Given the description of an element on the screen output the (x, y) to click on. 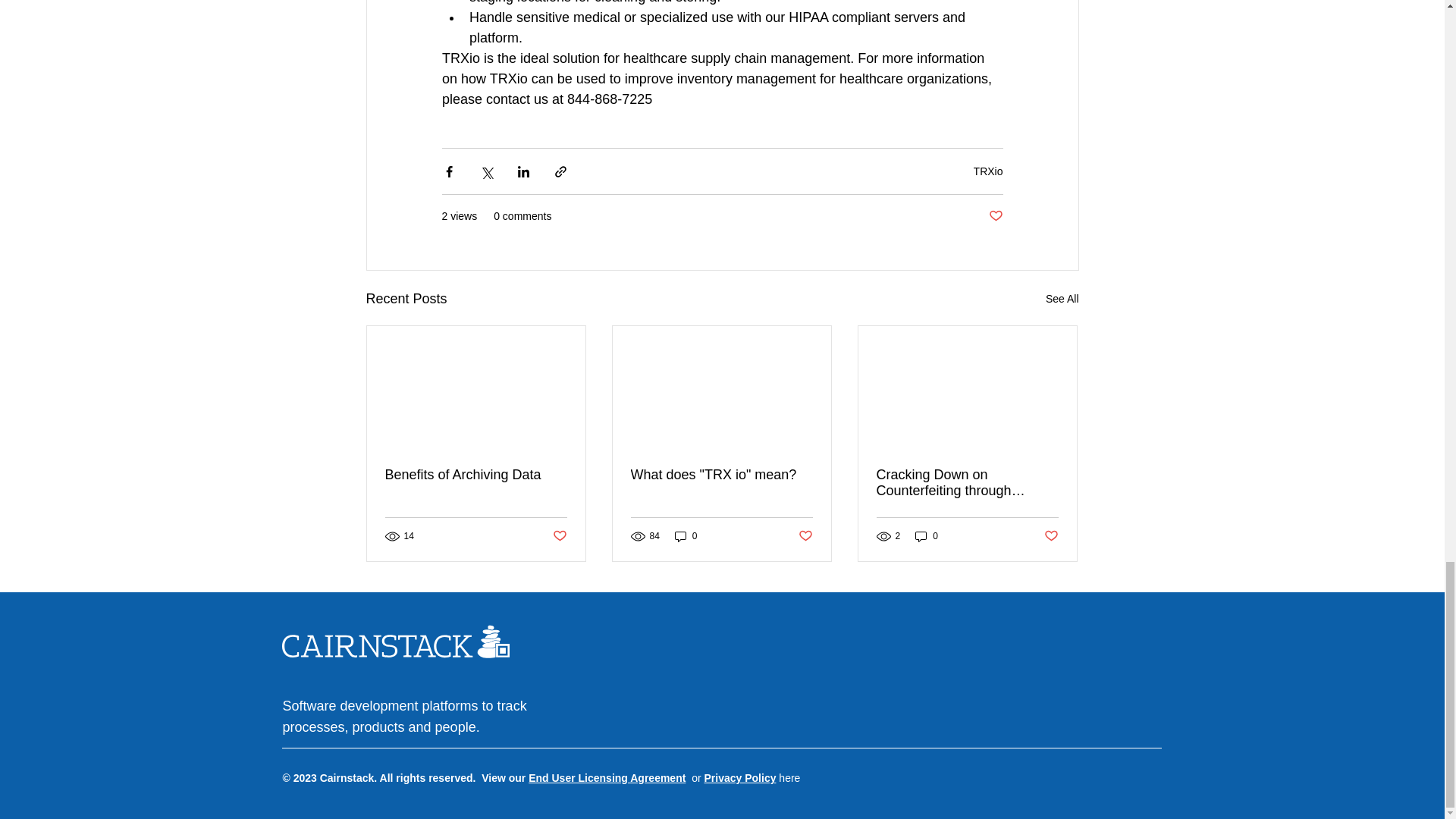
What does "TRX io" mean? (721, 474)
Post not marked as liked (995, 216)
0 (685, 536)
TRXio (988, 171)
Benefits of Archiving Data (476, 474)
Post not marked as liked (804, 535)
0 (926, 536)
See All (1061, 299)
Cracking Down on Counterfeiting through Traceability (967, 482)
Post not marked as liked (558, 535)
End User Licensing Agreement (606, 777)
Post not marked as liked (1050, 535)
